Given the description of an element on the screen output the (x, y) to click on. 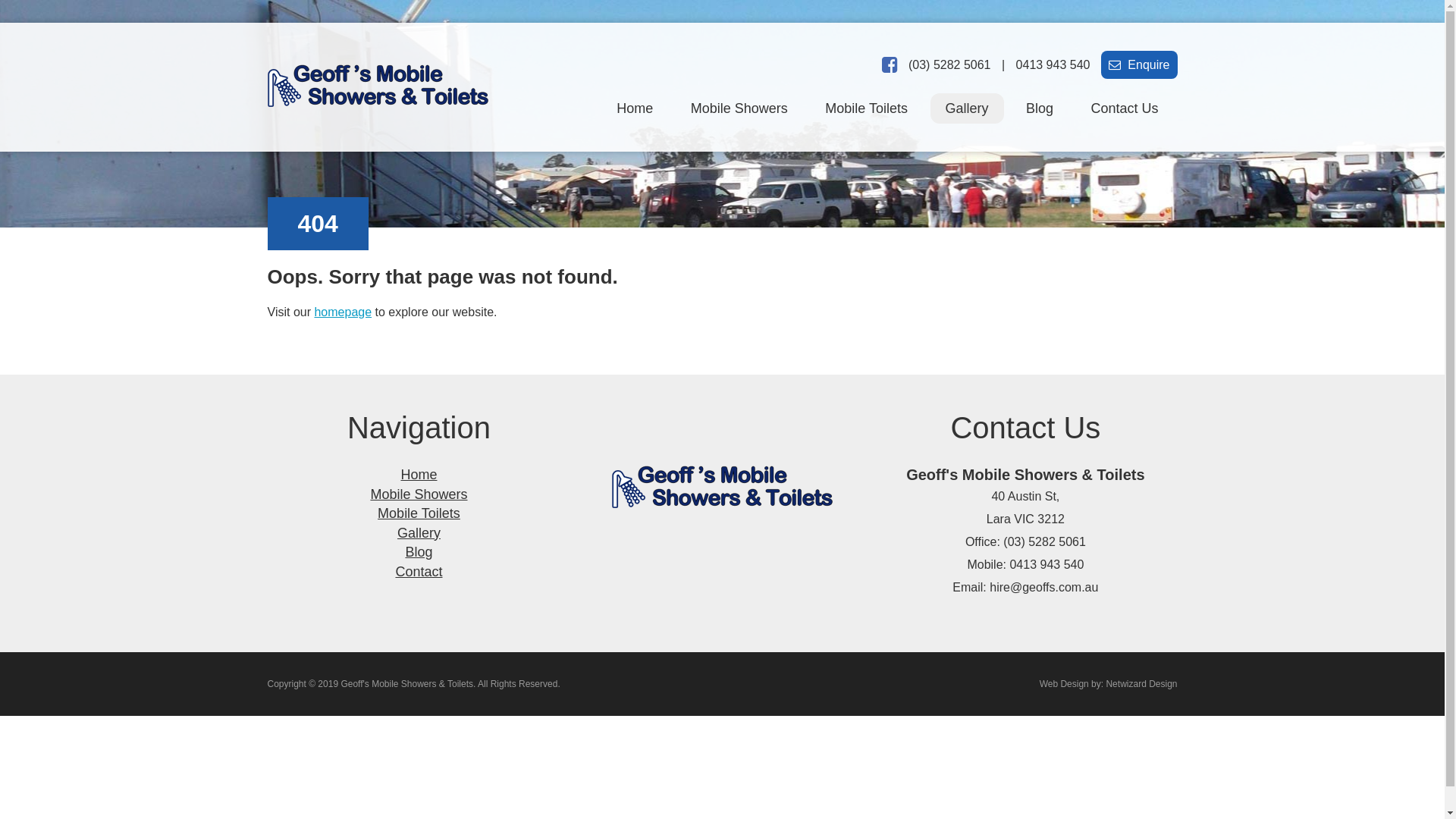
Contact Us Element type: text (1124, 108)
Mobile Toilets Element type: text (865, 108)
Contact Element type: text (418, 571)
Netwizard Design Element type: text (1140, 683)
Mobile Toilets Element type: text (418, 512)
homepage Element type: text (342, 311)
Gallery Element type: text (966, 108)
Mobile Showers Element type: text (418, 494)
Mobile Showers Element type: text (739, 108)
Home Element type: text (418, 474)
Blog Element type: text (1039, 108)
Gallery Element type: text (418, 532)
Blog Element type: text (418, 551)
Enquire Element type: text (1139, 64)
Home Element type: text (634, 108)
